Given the description of an element on the screen output the (x, y) to click on. 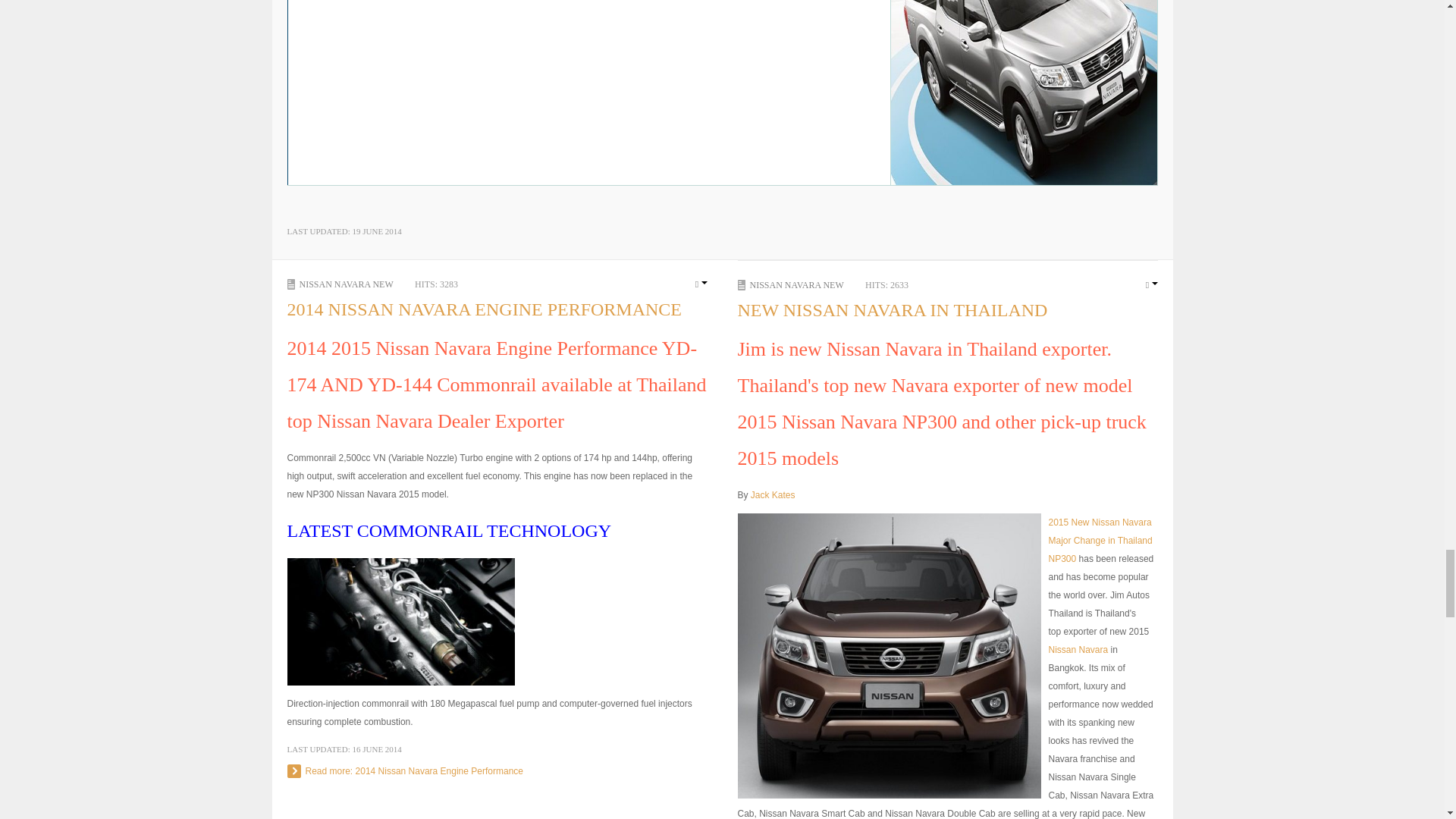
2012 Nissan Navara  exporter (1078, 649)
